Given the description of an element on the screen output the (x, y) to click on. 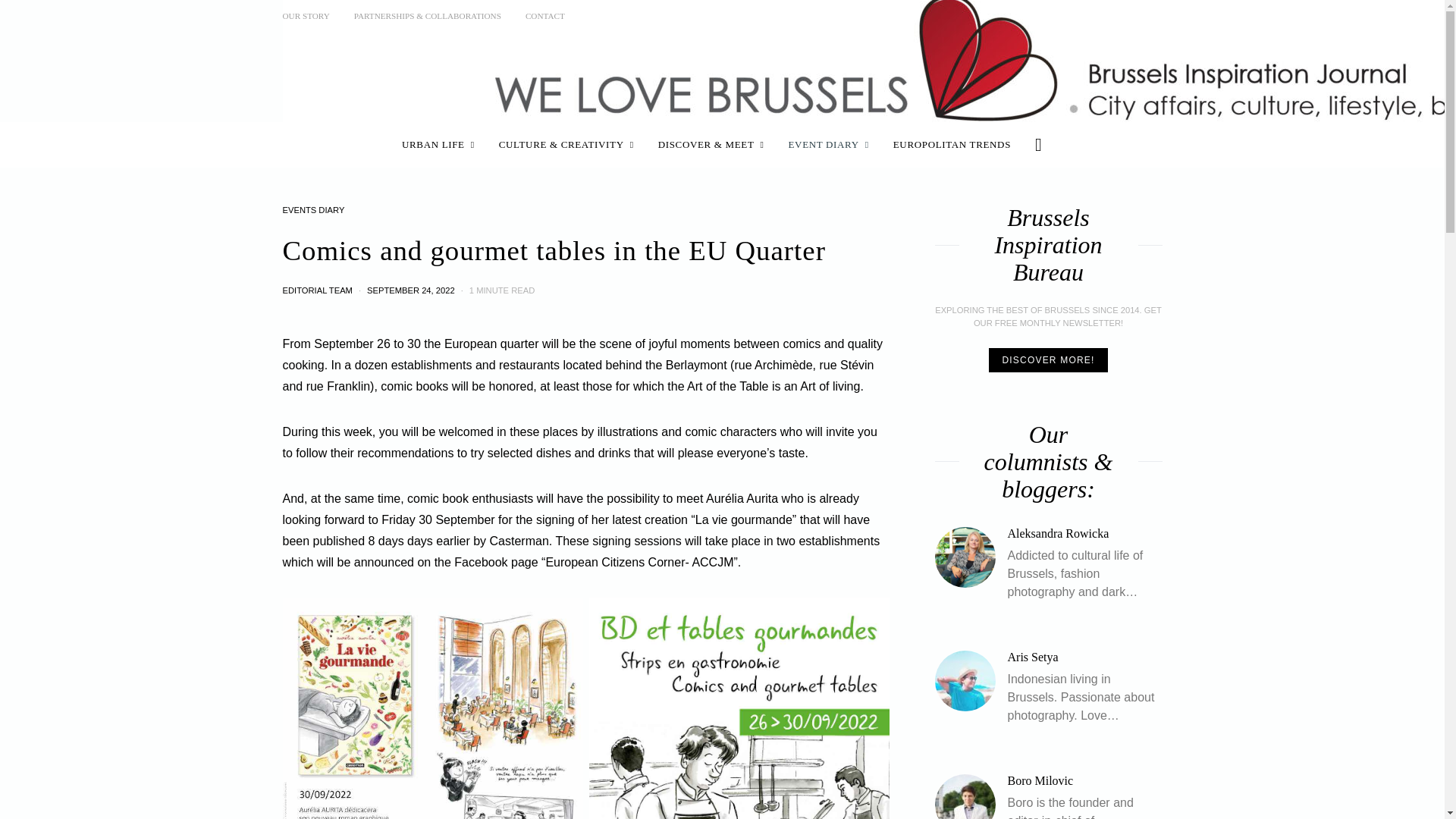
OUR STORY (305, 15)
10K (1150, 15)
CONTACT (544, 15)
View all posts by Editorial Team (317, 289)
65K (1088, 15)
66K (1119, 15)
URBAN LIFE (437, 144)
